Given the description of an element on the screen output the (x, y) to click on. 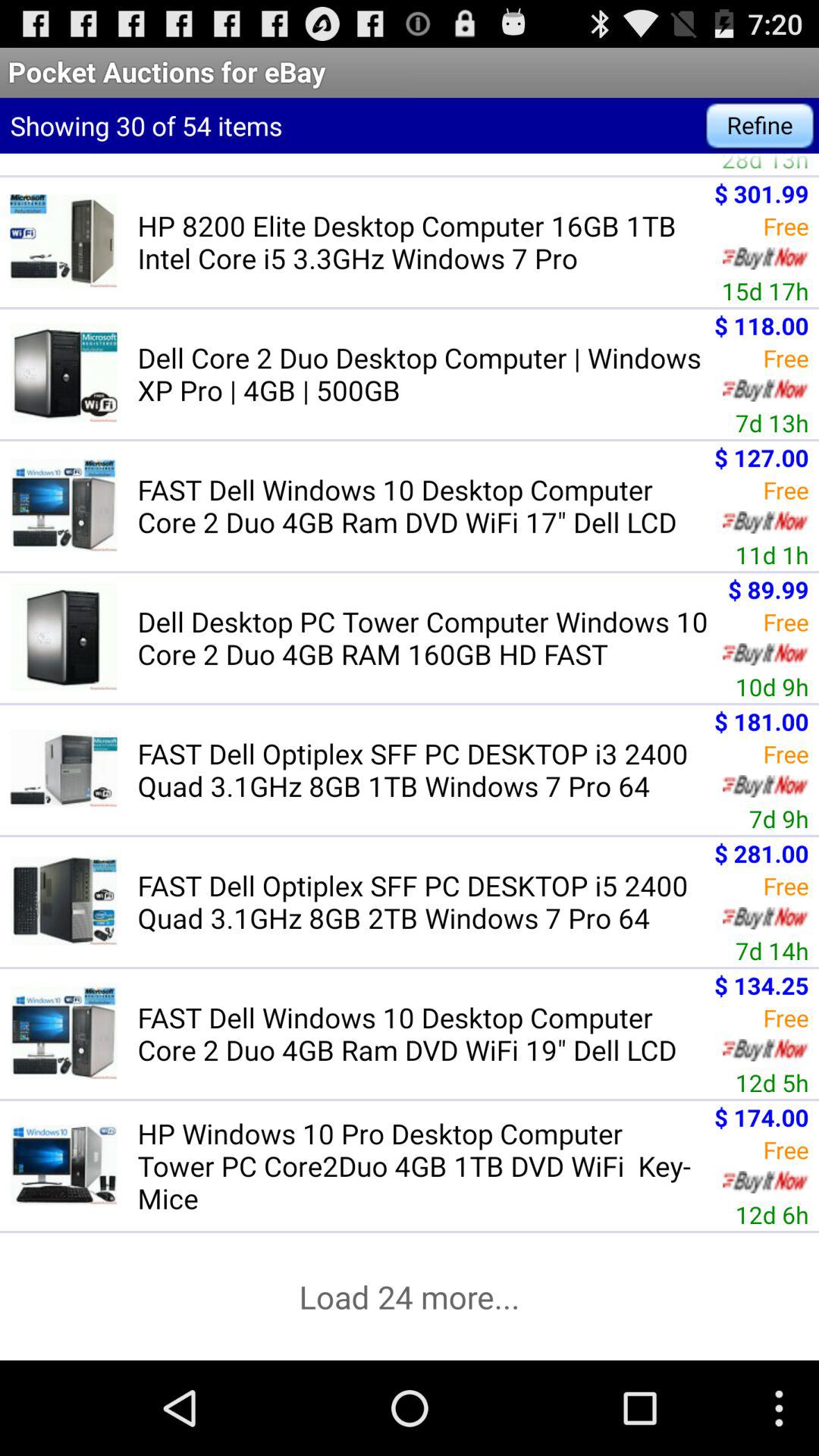
flip to 15d 17h icon (764, 290)
